Given the description of an element on the screen output the (x, y) to click on. 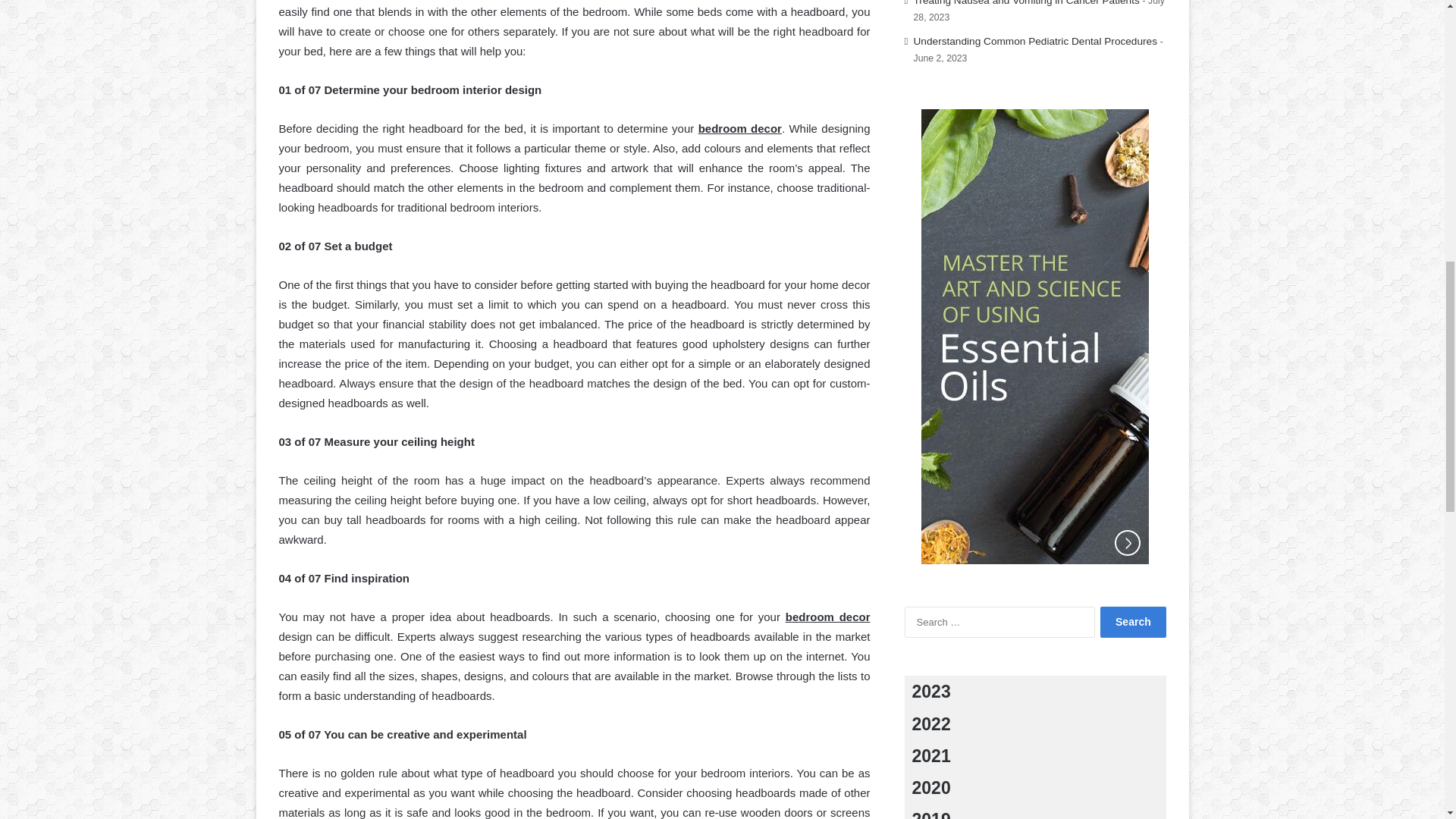
Search (1133, 622)
Search (1133, 622)
